Given the description of an element on the screen output the (x, y) to click on. 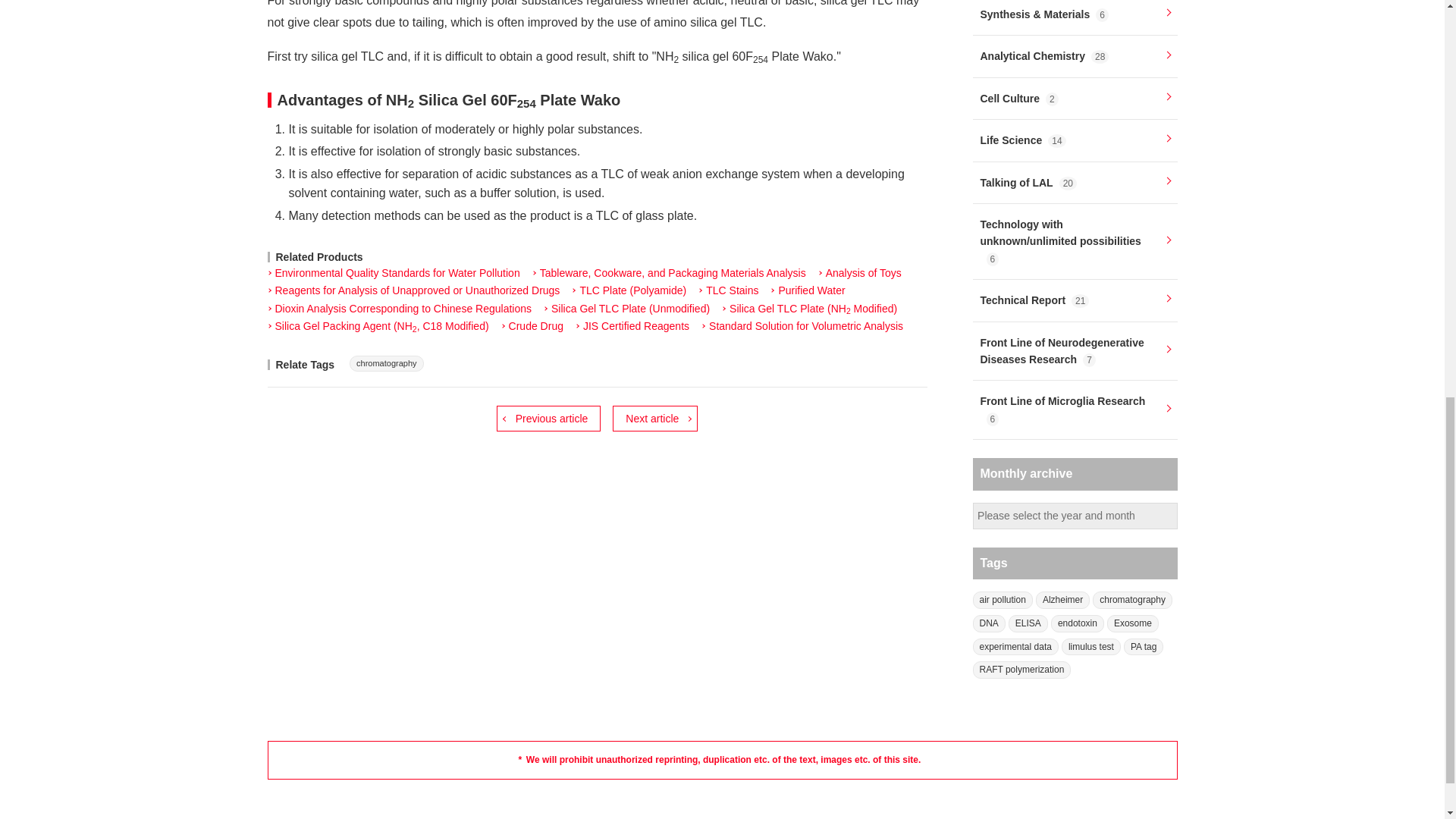
Alzheimer (1062, 600)
experimental data (1015, 647)
limulus test (1091, 647)
Reagents for Analysis of Unapproved or Unauthorized Drugs (412, 290)
Crude Drug (531, 326)
Analysis of Toys (859, 273)
air pollution (1002, 600)
Tableware, Cookware, and Packaging Materials Analysis (669, 273)
chromatography (386, 363)
JIS Certified Reagents (631, 326)
Previous article (548, 418)
Dioxin Analysis Corresponding to Chinese Regulations (398, 309)
TLC Stains (728, 290)
ELISA (1028, 623)
RAFT polymerization (1021, 669)
